Given the description of an element on the screen output the (x, y) to click on. 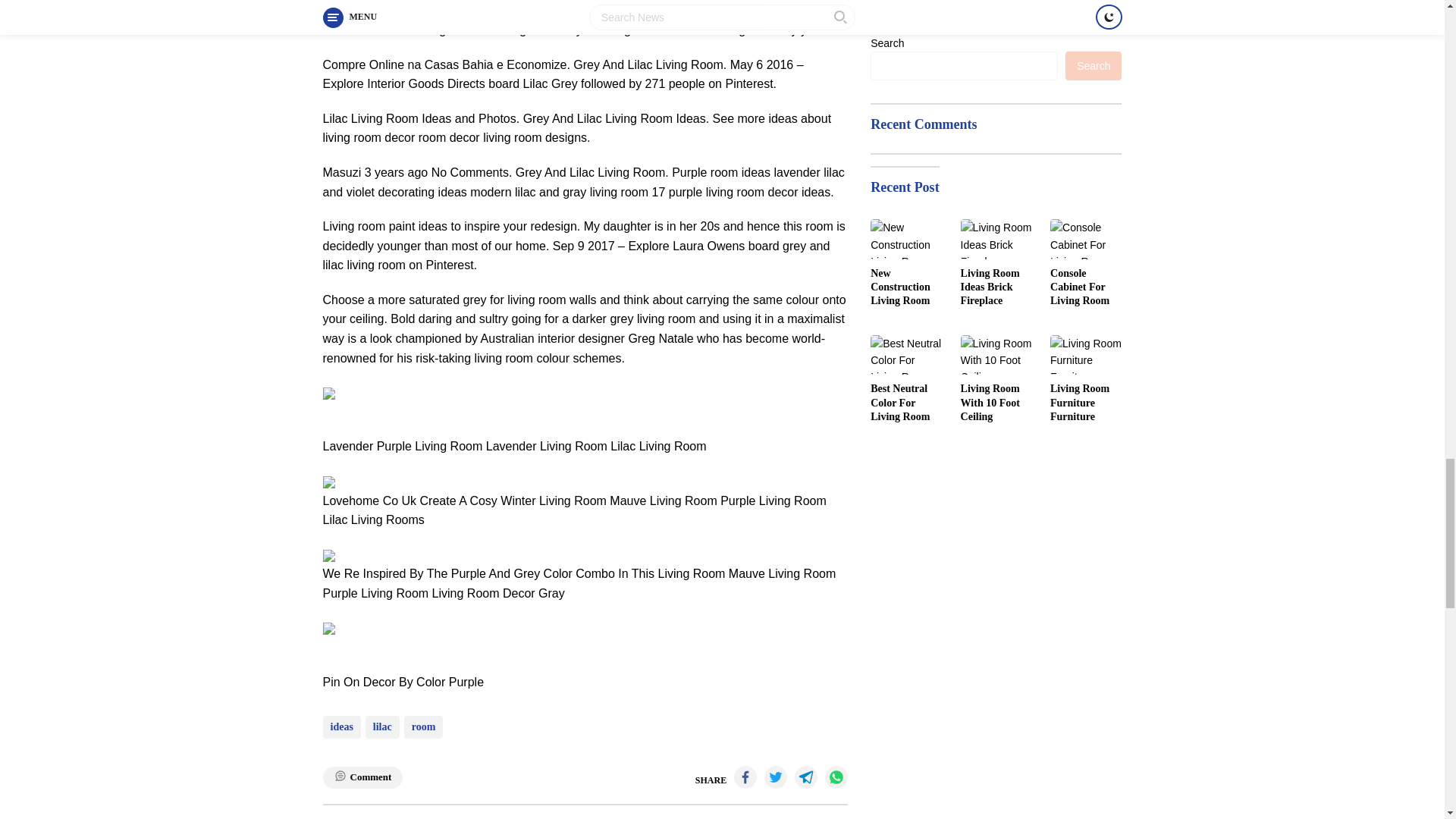
Tweet This (775, 776)
Comment (363, 777)
lilac (381, 726)
Facebook Share (745, 776)
ideas (342, 726)
Telegram Share (805, 776)
Send To WhatsApp (836, 776)
room (424, 726)
